Given the description of an element on the screen output the (x, y) to click on. 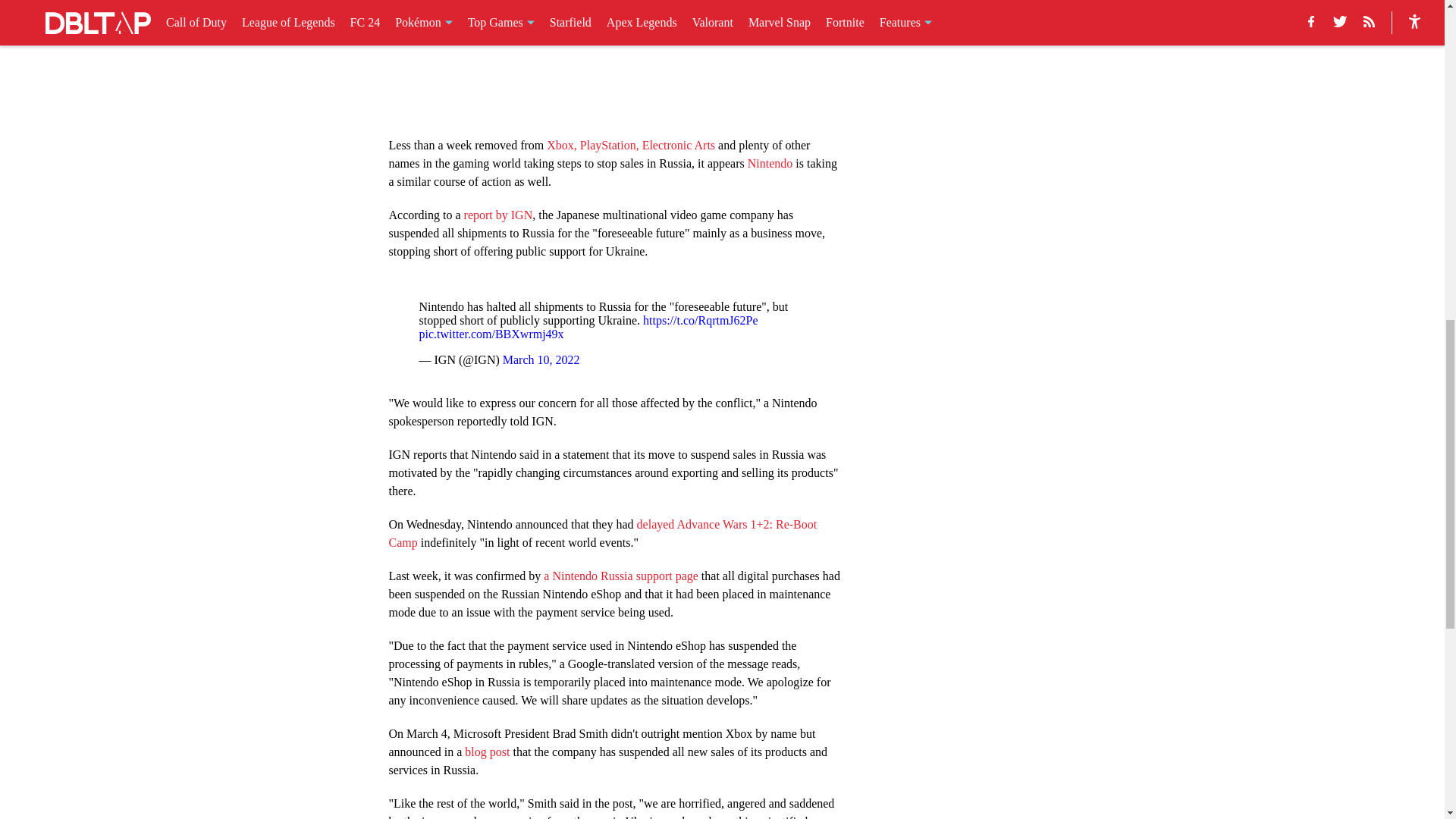
March 10, 2022 (540, 359)
Xbox, PlayStation, Electronic Arts (630, 144)
report by IGN (498, 214)
Nintendo (770, 162)
